Given the description of an element on the screen output the (x, y) to click on. 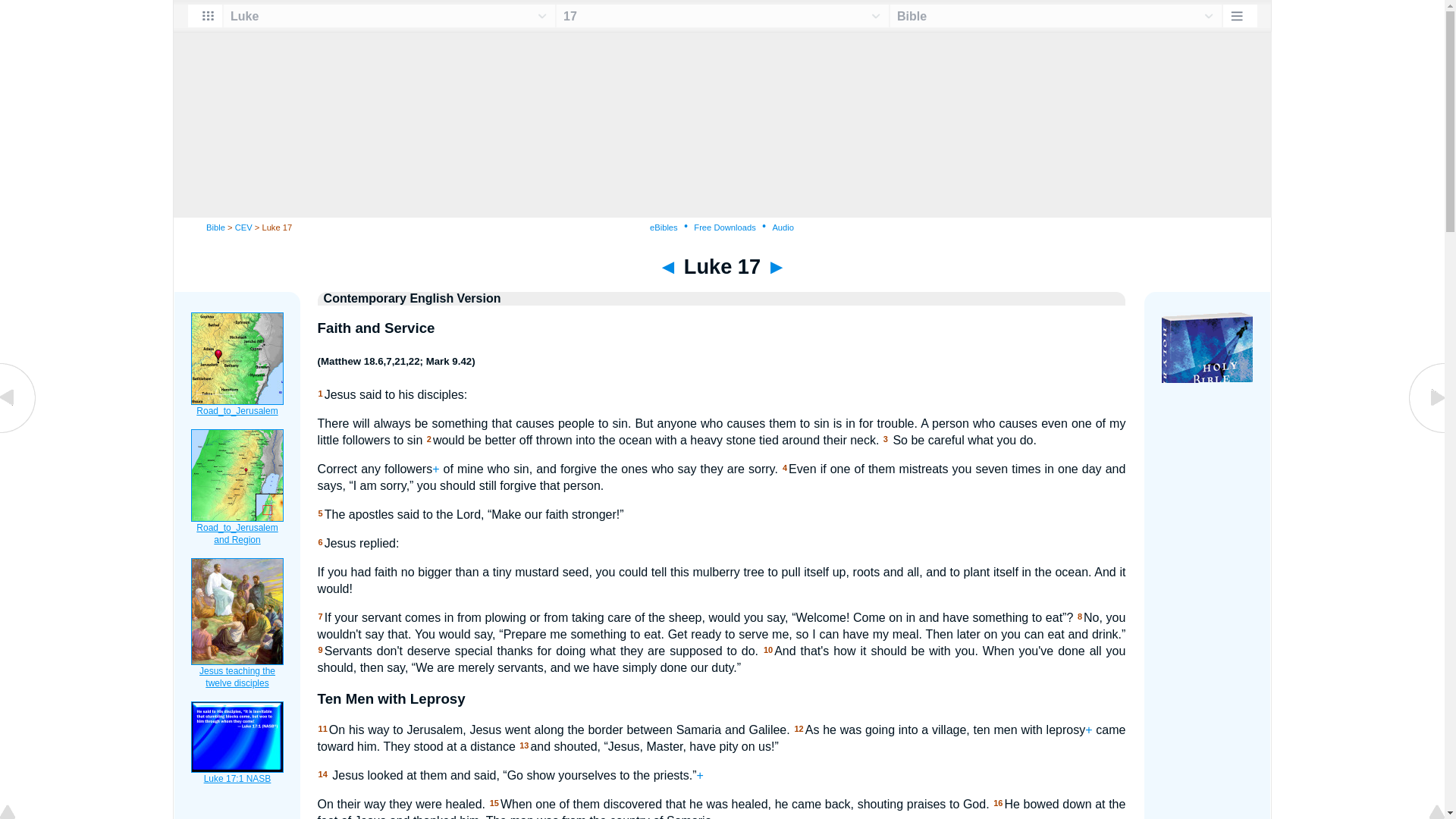
Bible (215, 226)
Luke 16 (18, 431)
CEV (242, 226)
Top of Page (18, 813)
